Given the description of an element on the screen output the (x, y) to click on. 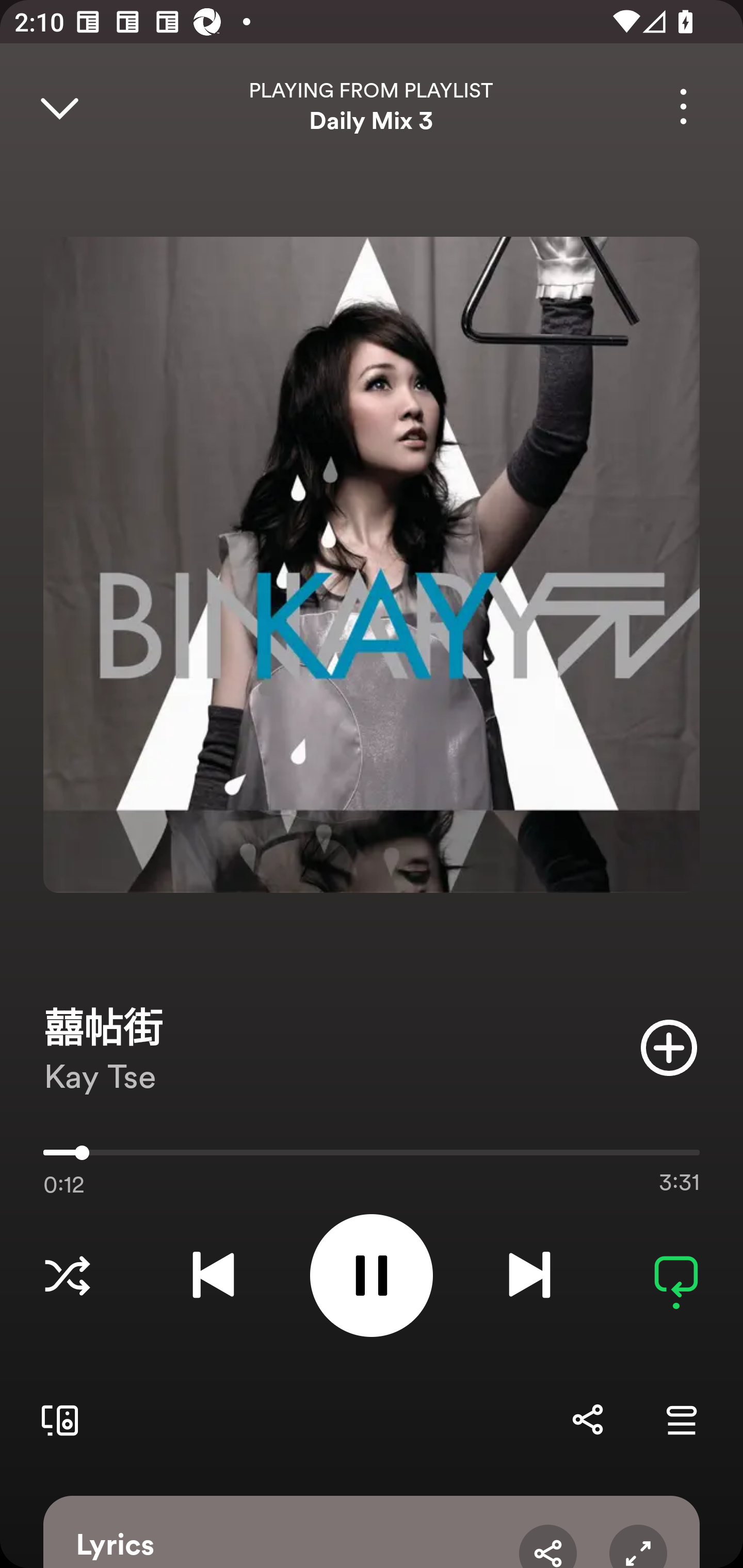
Close (59, 106)
More options for song 囍帖街 (683, 106)
PLAYING FROM PLAYLIST Daily Mix 3 (371, 106)
Add item (669, 1046)
0:12 3:31 12348.0 Use volume keys to adjust (371, 1157)
Pause (371, 1275)
Previous (212, 1275)
Next (529, 1275)
Choose a Listening Mode (66, 1275)
Repeat (676, 1275)
Share (587, 1419)
Go to Queue (681, 1419)
Connect to a device. Opens the devices menu (55, 1419)
Lyrics Share Expand (371, 1531)
Share (547, 1546)
Expand (638, 1546)
